Given the description of an element on the screen output the (x, y) to click on. 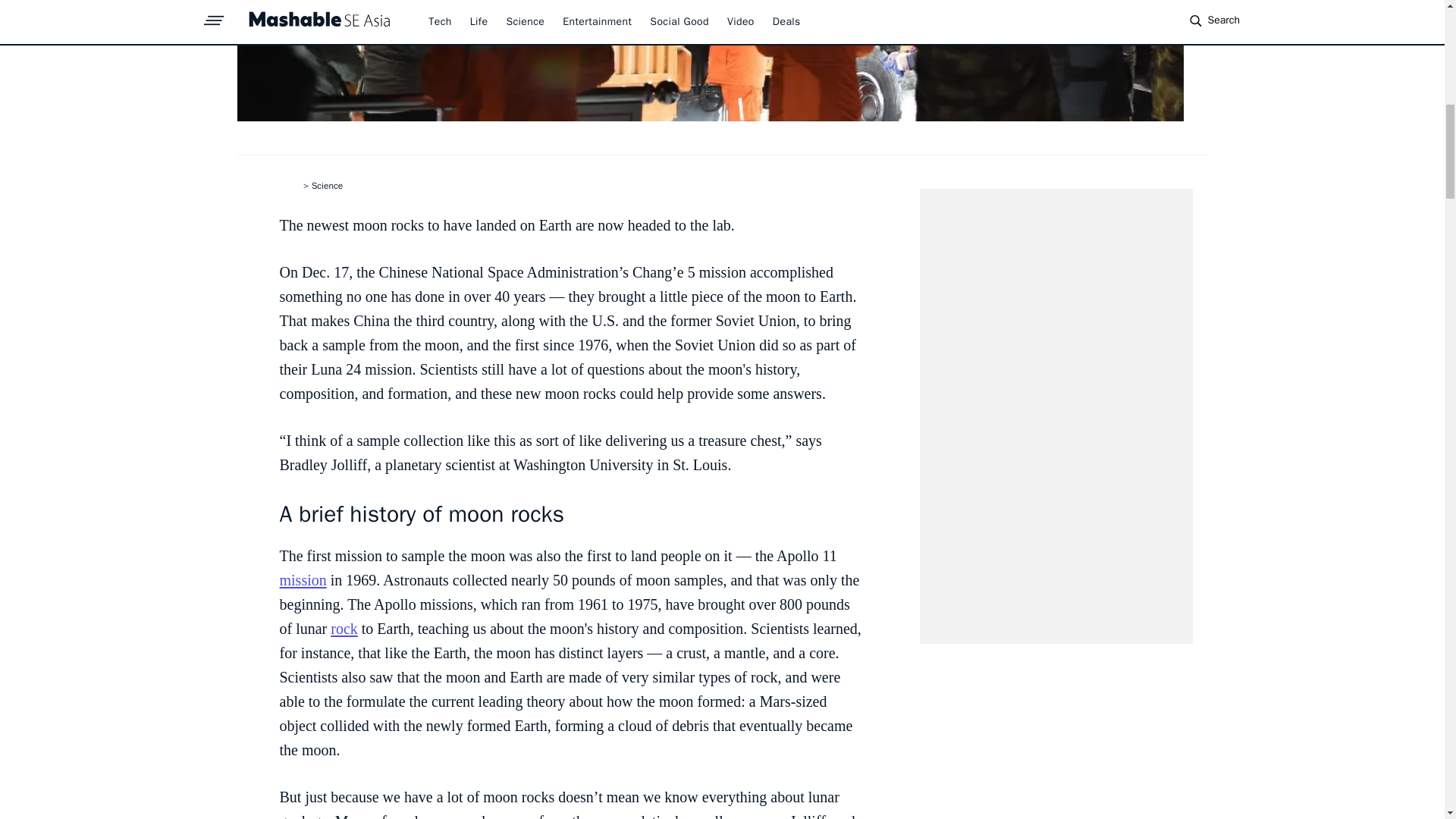
rock (344, 628)
mission (302, 579)
